Given the description of an element on the screen output the (x, y) to click on. 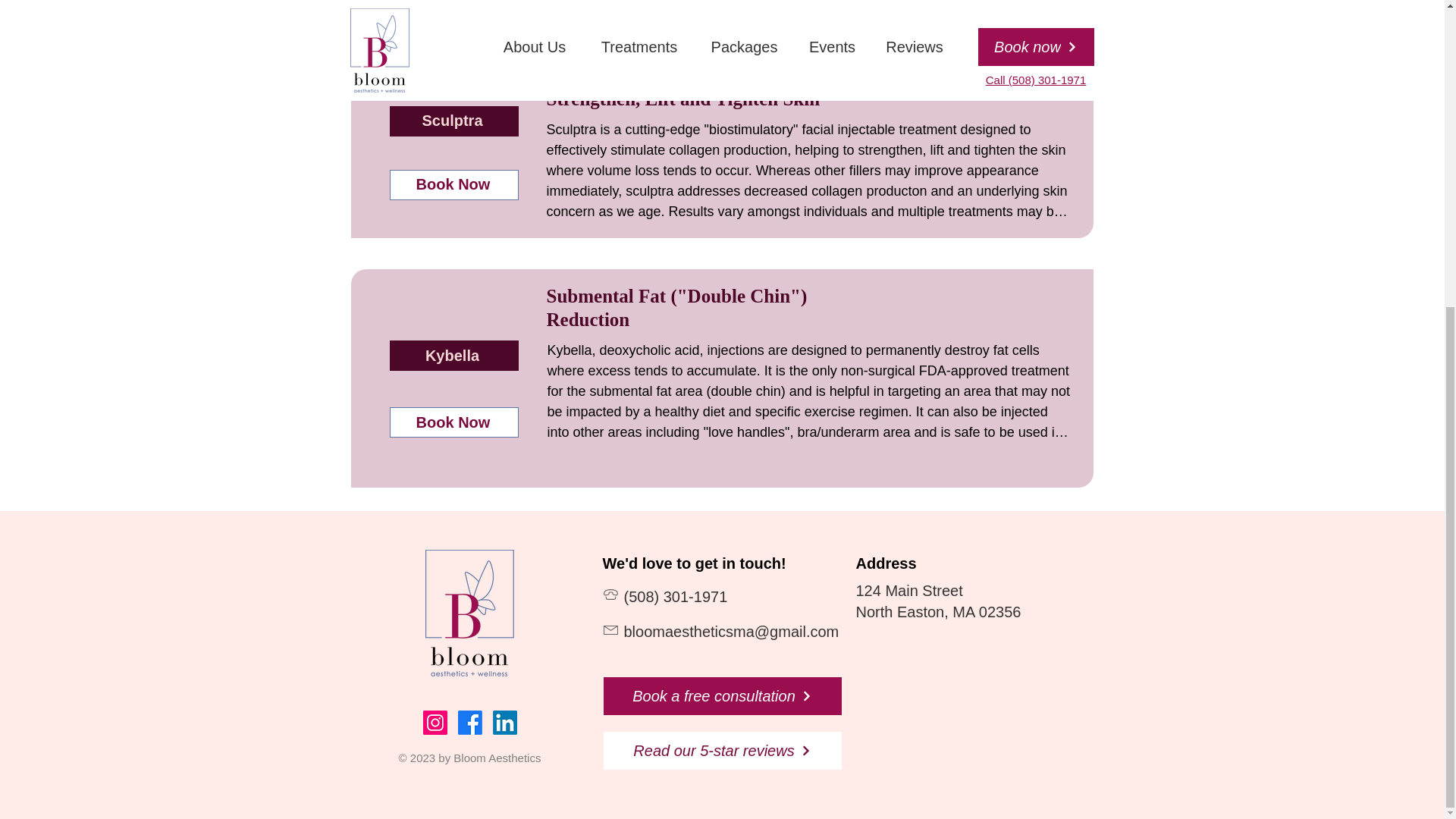
Kybella (454, 355)
Book Now (454, 422)
Book Now (454, 1)
Book a free consultation (722, 695)
Book Now (454, 184)
Read our 5-star reviews (722, 750)
Sculptra (454, 121)
